Given the description of an element on the screen output the (x, y) to click on. 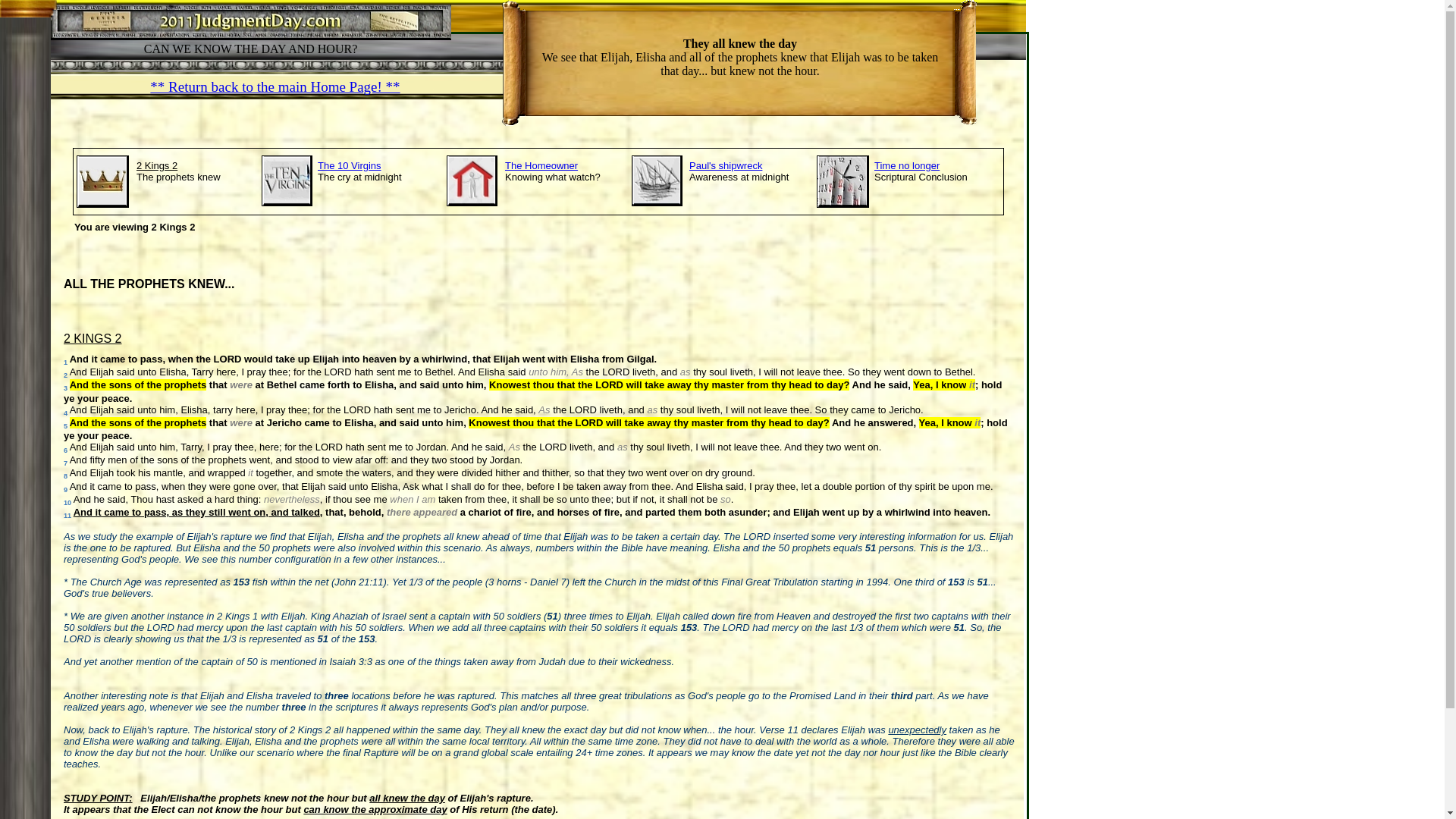
** Return back to the main Home Page! ** Element type: text (274, 86)
Time no longer Element type: text (906, 165)
The 10 Virgins Element type: text (349, 165)
The Homeowner Element type: text (541, 165)
Paul's shipwreck Element type: text (725, 165)
